Given the description of an element on the screen output the (x, y) to click on. 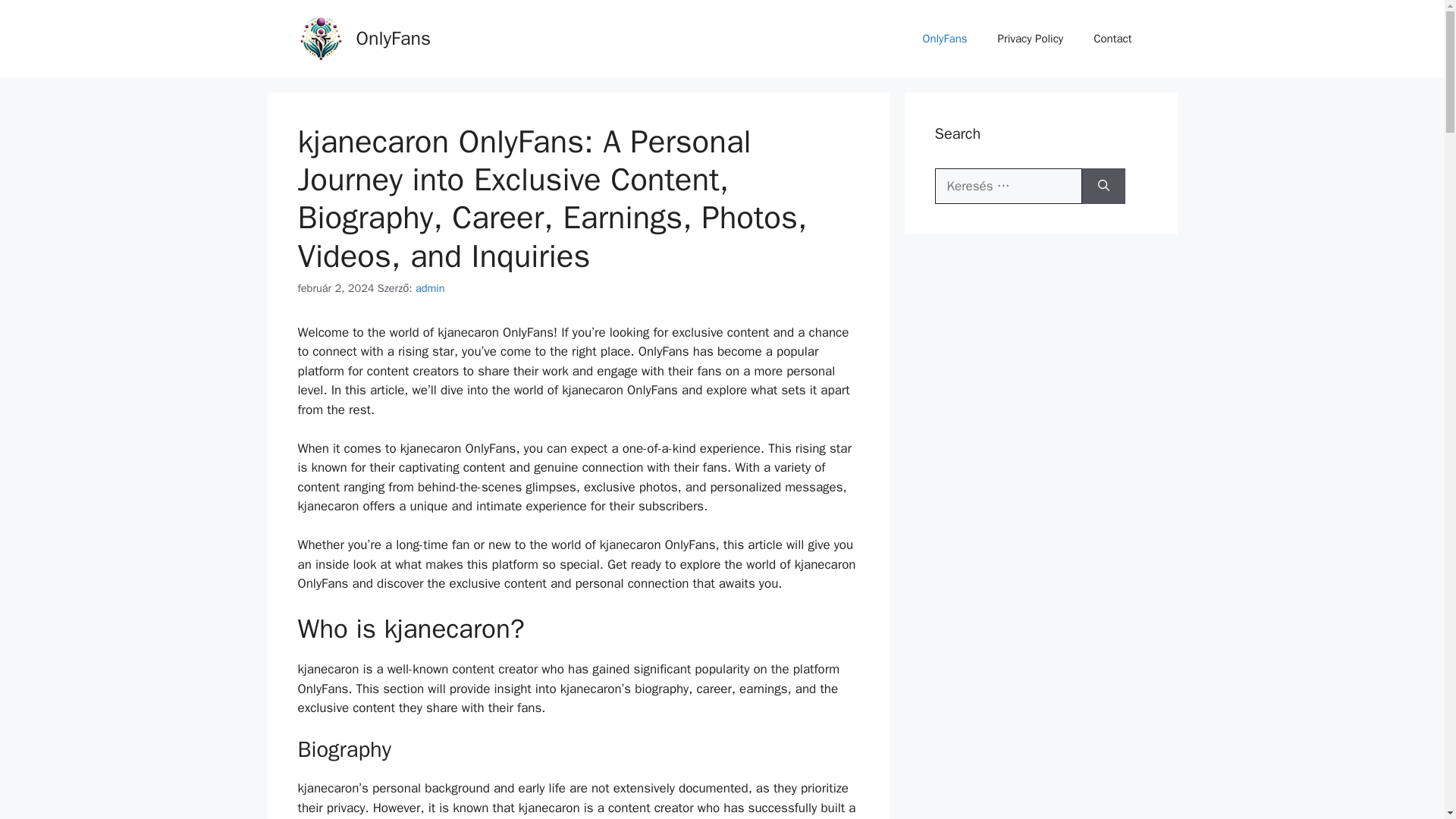
OnlyFans (944, 38)
OnlyFans (393, 37)
Privacy Policy (1030, 38)
admin (429, 287)
Contact (1112, 38)
